Given the description of an element on the screen output the (x, y) to click on. 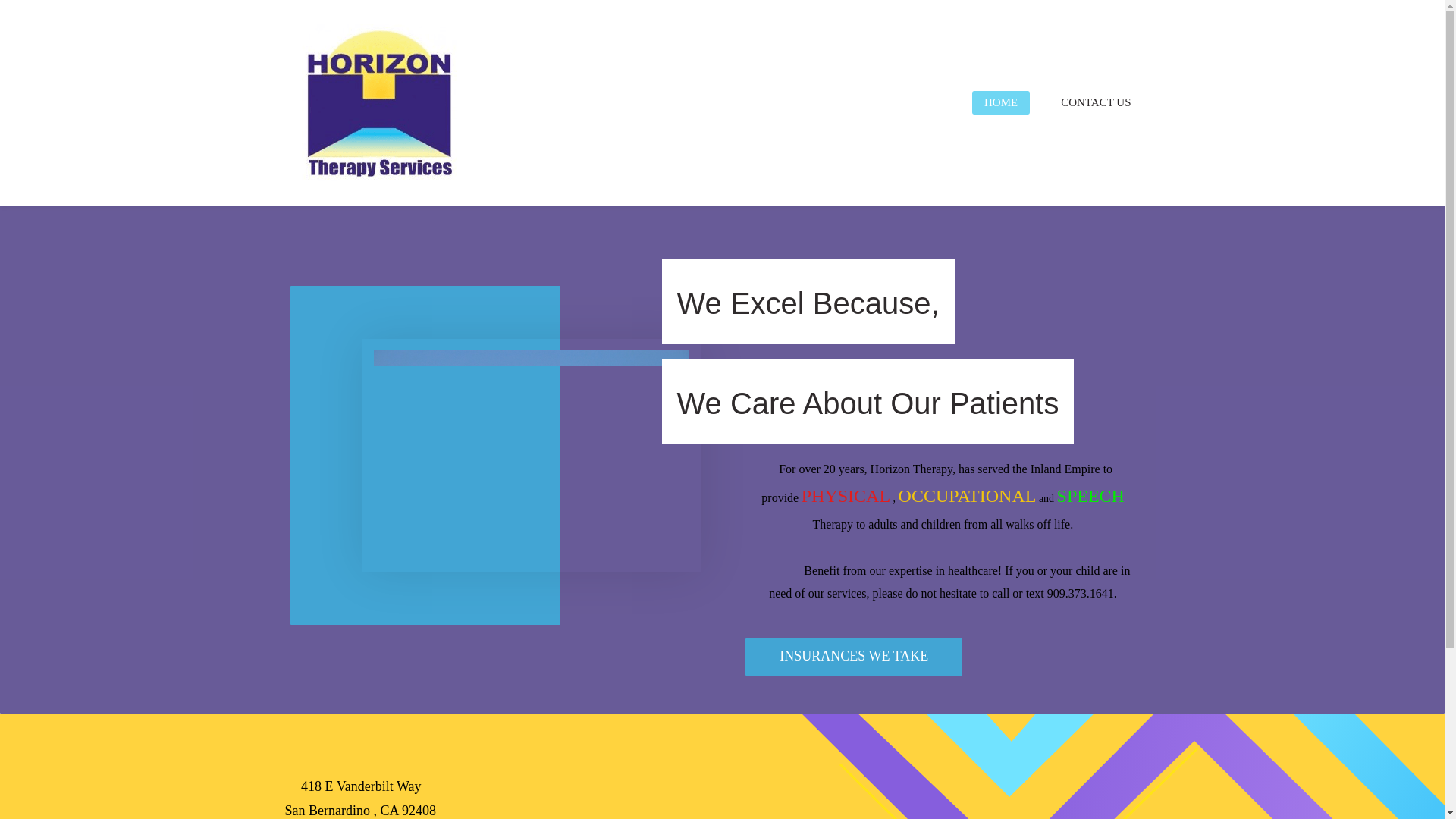
HOME (1000, 102)
CONTACT US (1095, 102)
INSURANCES WE TAKE (853, 656)
